Given the description of an element on the screen output the (x, y) to click on. 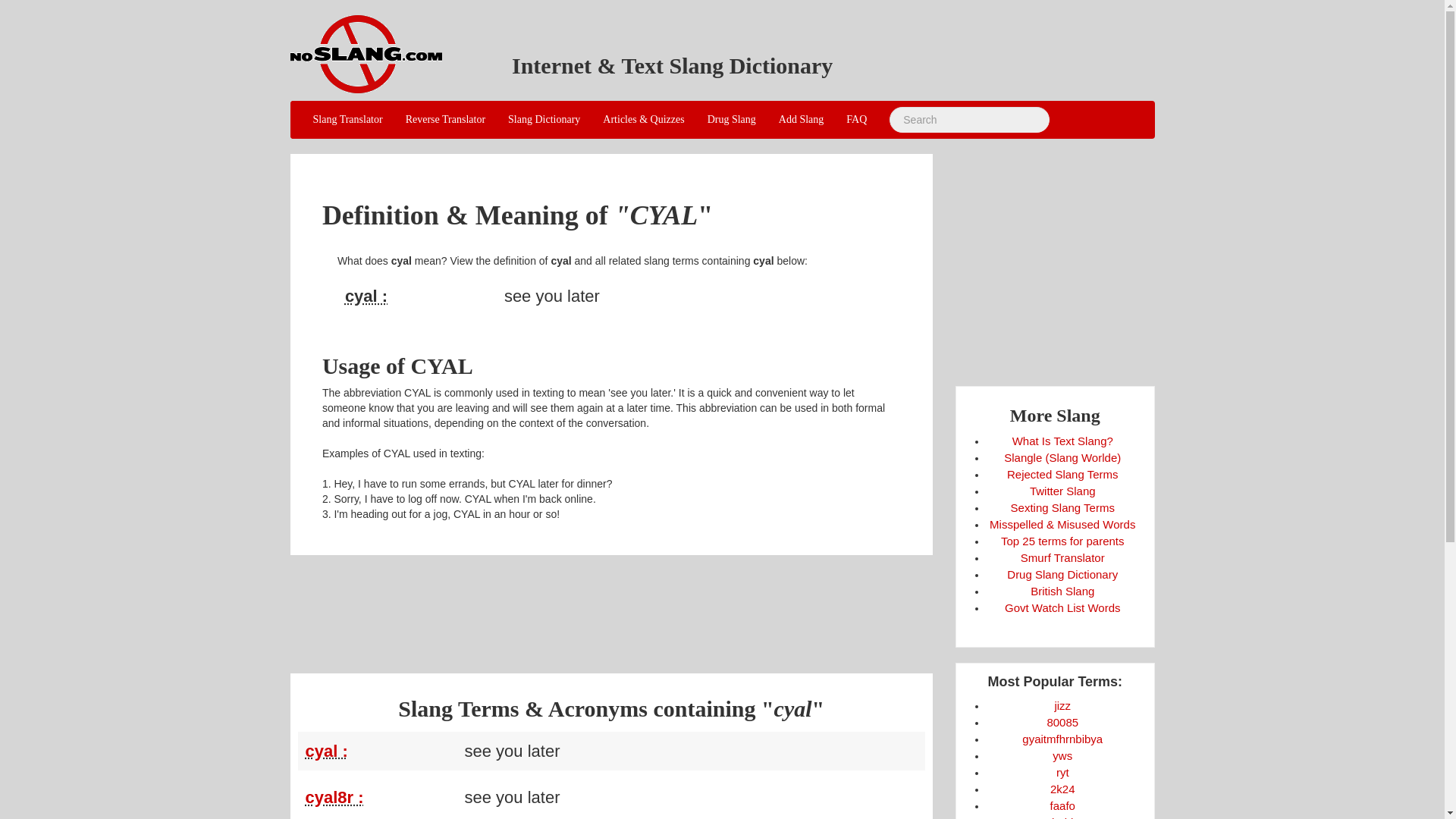
see you later (420, 295)
semen (1062, 705)
Top 25 terms for parents (1062, 540)
cyal : (325, 751)
Drug Slang (731, 119)
Twitter Slang (1062, 490)
baby (1062, 817)
Add Slang (801, 119)
right (1062, 771)
babi (1062, 817)
2k24 (1062, 788)
FAQ (855, 119)
Smurf Translator (1062, 557)
Slang Dictionary (543, 119)
